Given the description of an element on the screen output the (x, y) to click on. 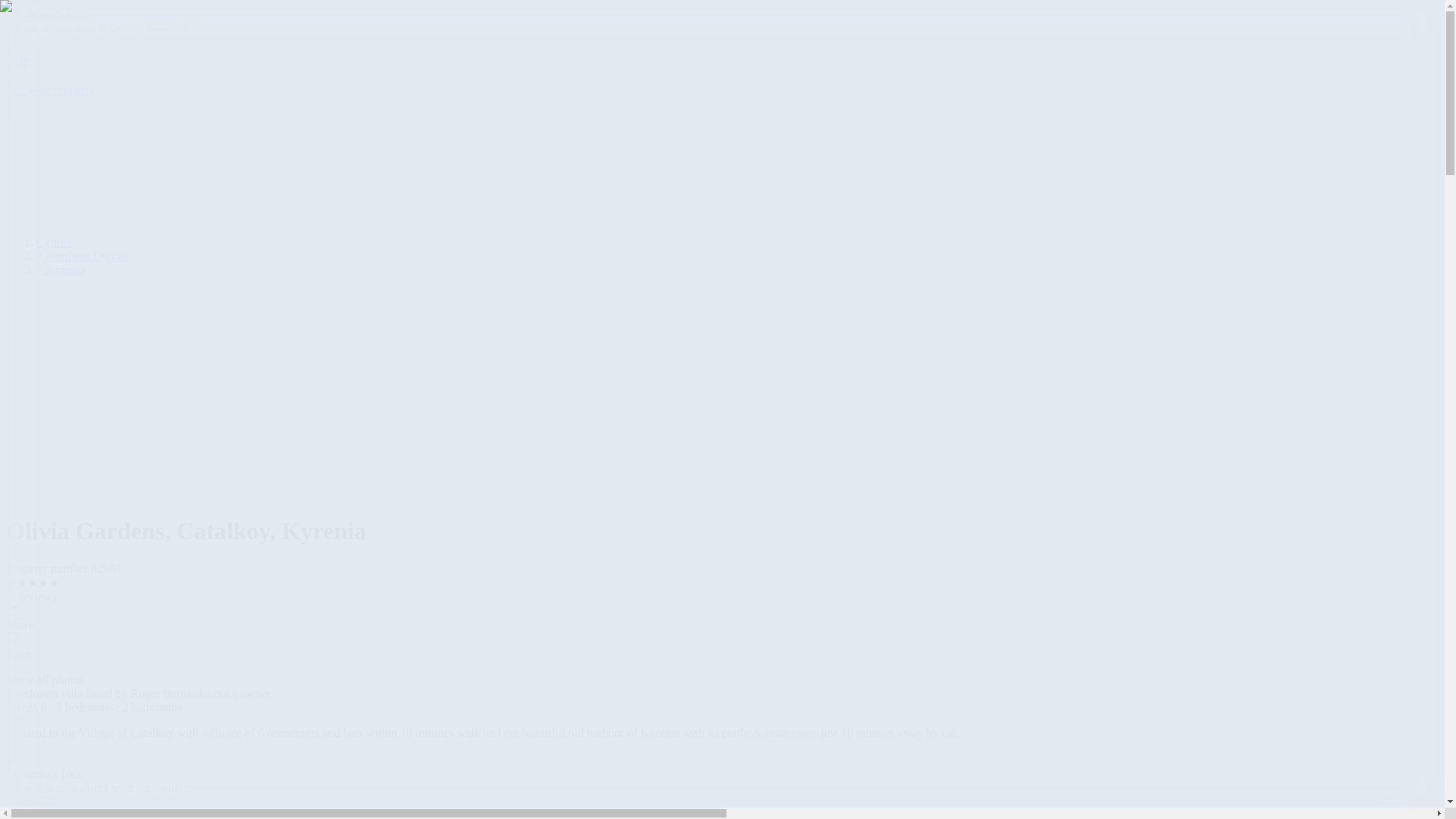
Log in (25, 75)
Kyrenia (64, 269)
Search (167, 27)
List your property (49, 89)
Help (17, 60)
Cyprus (53, 241)
Northern Cyprus (85, 255)
contact owner (236, 693)
1 review (31, 595)
